Given the description of an element on the screen output the (x, y) to click on. 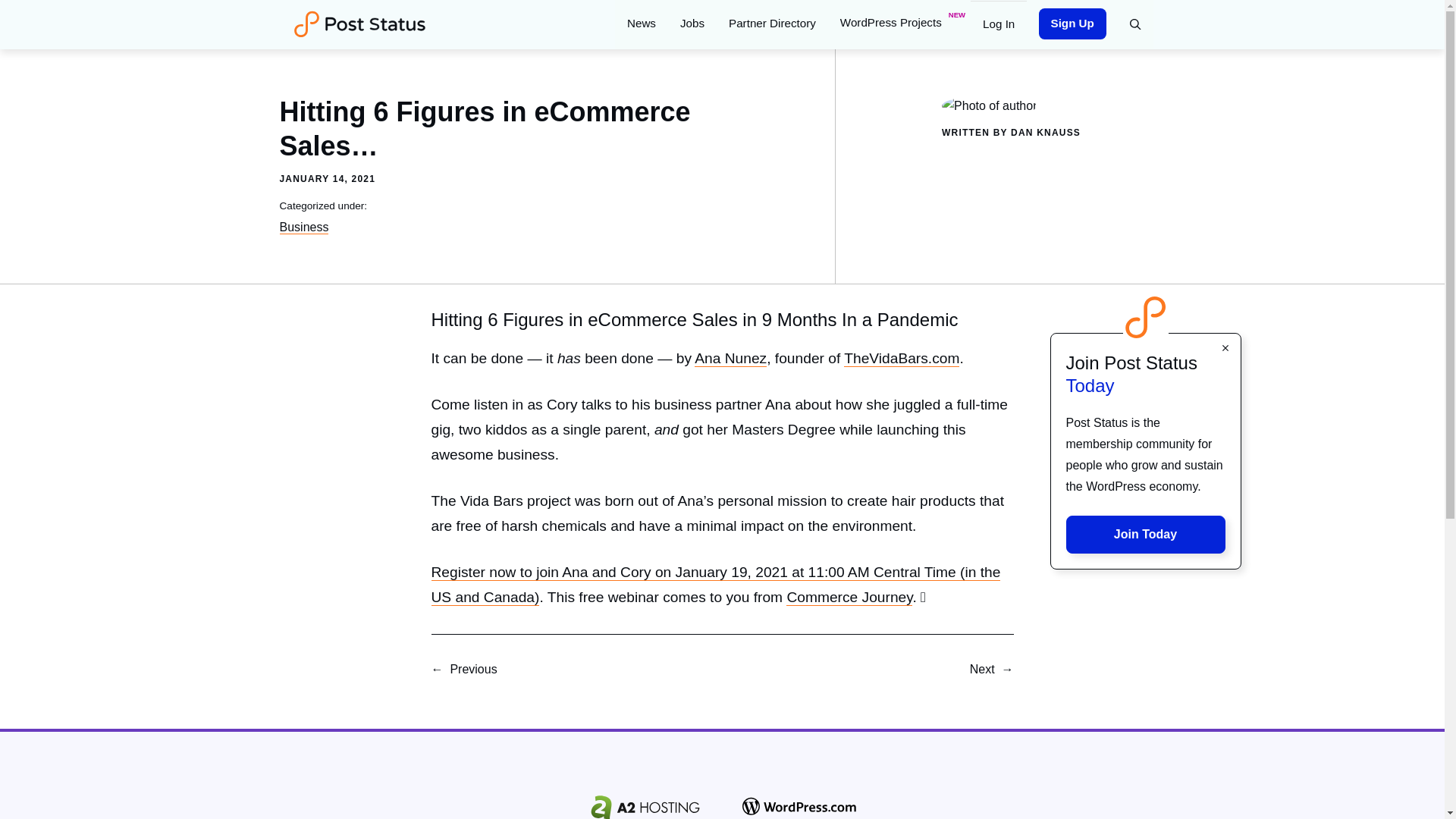
Jobs (692, 22)
Partner Directory (772, 22)
A2 Hosting (644, 805)
Previous (472, 668)
Log In (998, 22)
Sign Up (1072, 22)
Post Status Icon (1144, 317)
WordPress.com (799, 807)
TheVidaBars.com (901, 358)
News (641, 22)
